Given the description of an element on the screen output the (x, y) to click on. 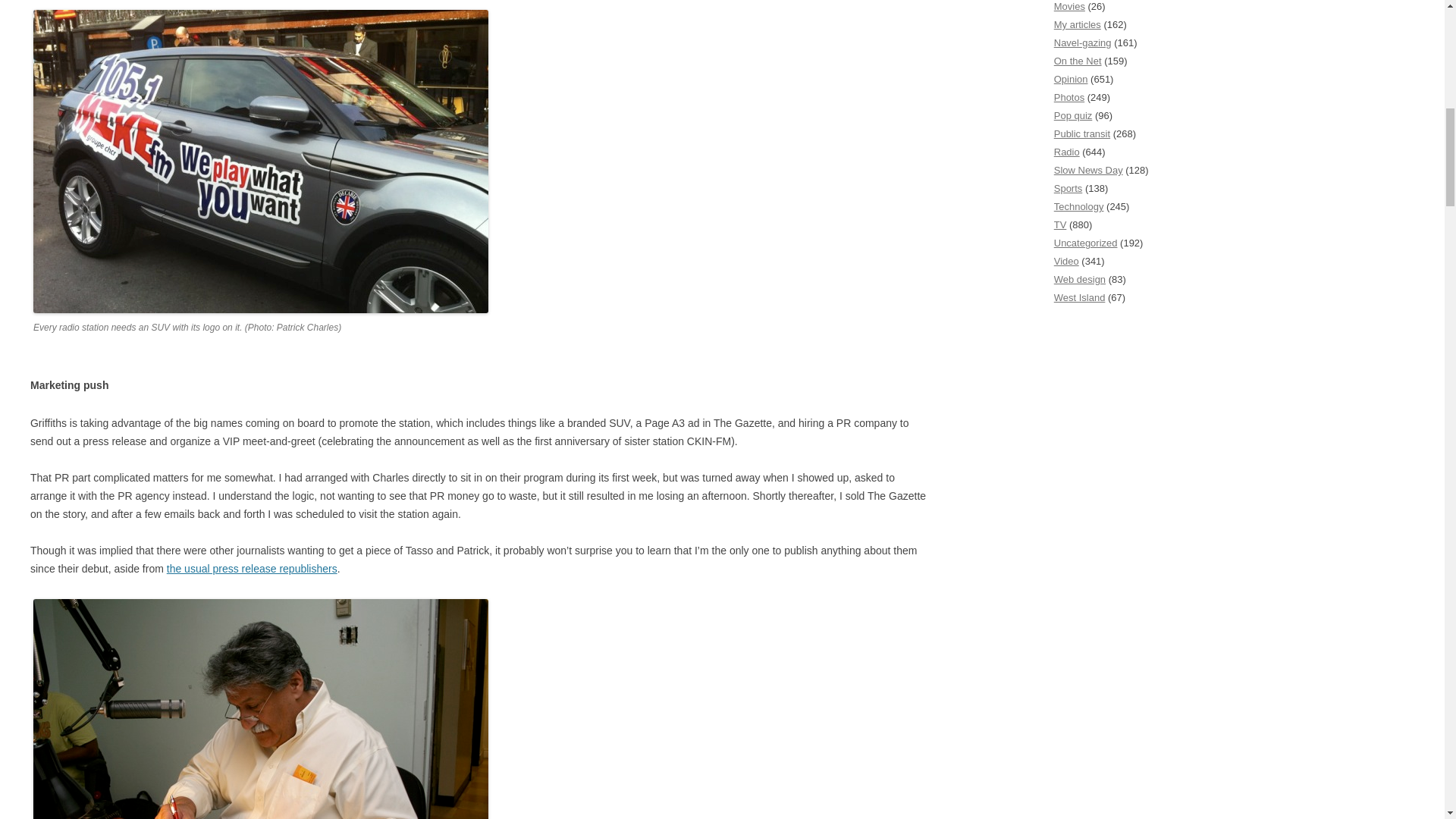
Tasso's notes (260, 708)
the usual press release republishers (252, 568)
